Given the description of an element on the screen output the (x, y) to click on. 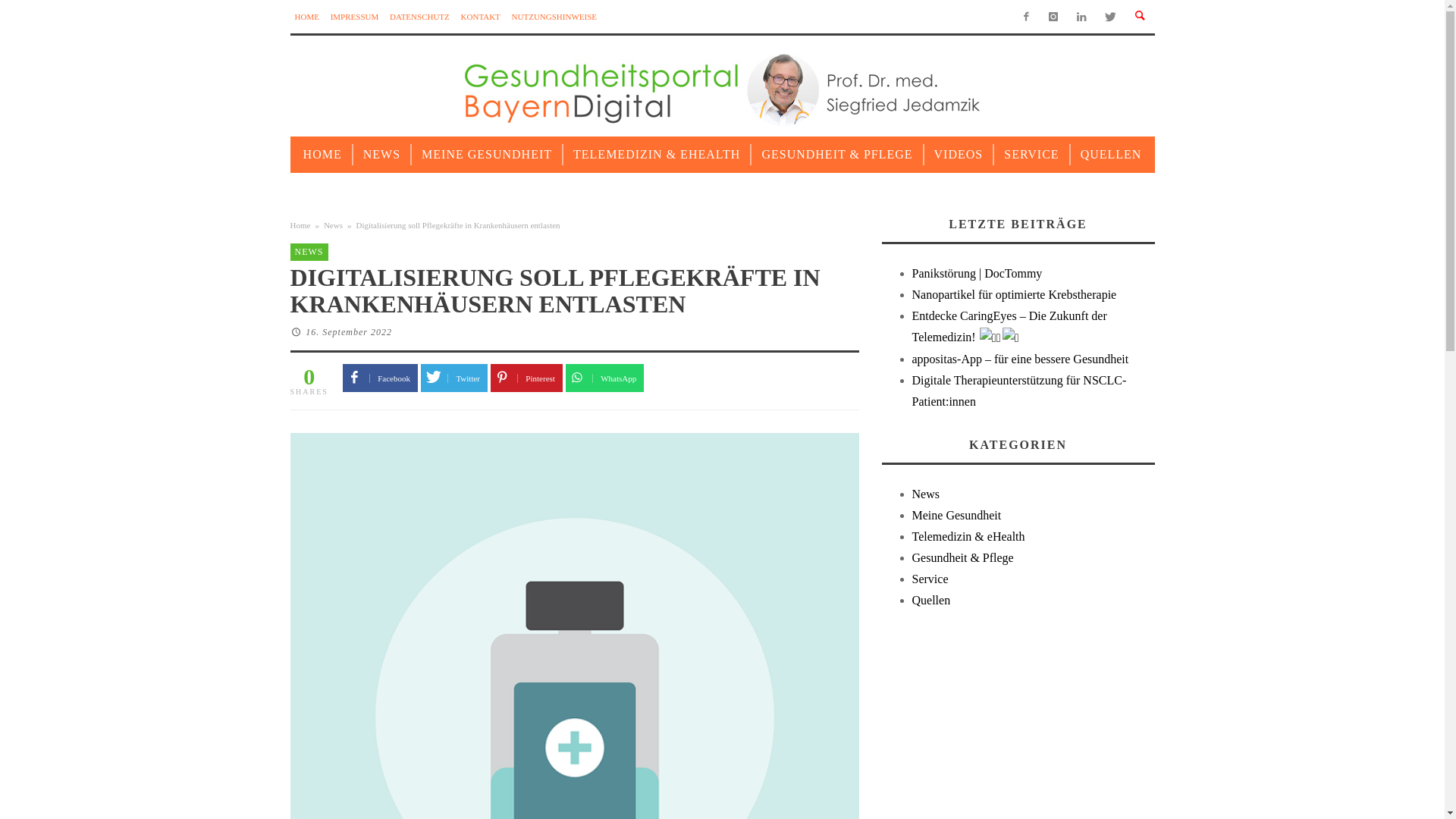
HOME Element type: text (306, 16)
KONTAKT Element type: text (480, 16)
NEWS Element type: text (308, 251)
HOME Element type: text (322, 154)
SERVICE Element type: text (1030, 154)
LinkedIn Element type: hover (1081, 16)
News Element type: text (924, 493)
QUELLEN Element type: text (1111, 154)
Quellen Element type: text (930, 599)
Meine Gesundheit Element type: text (956, 514)
16. September 2022 Element type: text (348, 331)
Telemedizin & eHealth Element type: text (967, 536)
NUTZUNGSHINWEISE Element type: text (554, 16)
GESUNDHEIT & PFLEGE Element type: text (836, 154)
Instagram Element type: hover (1053, 16)
MEINE GESUNDHEIT Element type: text (486, 154)
Pinterest Element type: text (526, 378)
News Element type: text (332, 224)
TELEMEDIZIN & EHEALTH Element type: text (656, 154)
Service Element type: text (929, 578)
Facebook Element type: hover (1025, 16)
Home Element type: text (299, 224)
NEWS Element type: text (381, 154)
VIDEOS Element type: text (958, 154)
Twitter Element type: hover (1109, 16)
DATENSCHUTZ Element type: text (419, 16)
IMPRESSUM Element type: text (354, 16)
Gesundheit & Pflege Element type: text (962, 557)
WhatsApp Element type: text (604, 378)
Facebook Element type: text (379, 378)
Twitter Element type: text (453, 378)
